Given the description of an element on the screen output the (x, y) to click on. 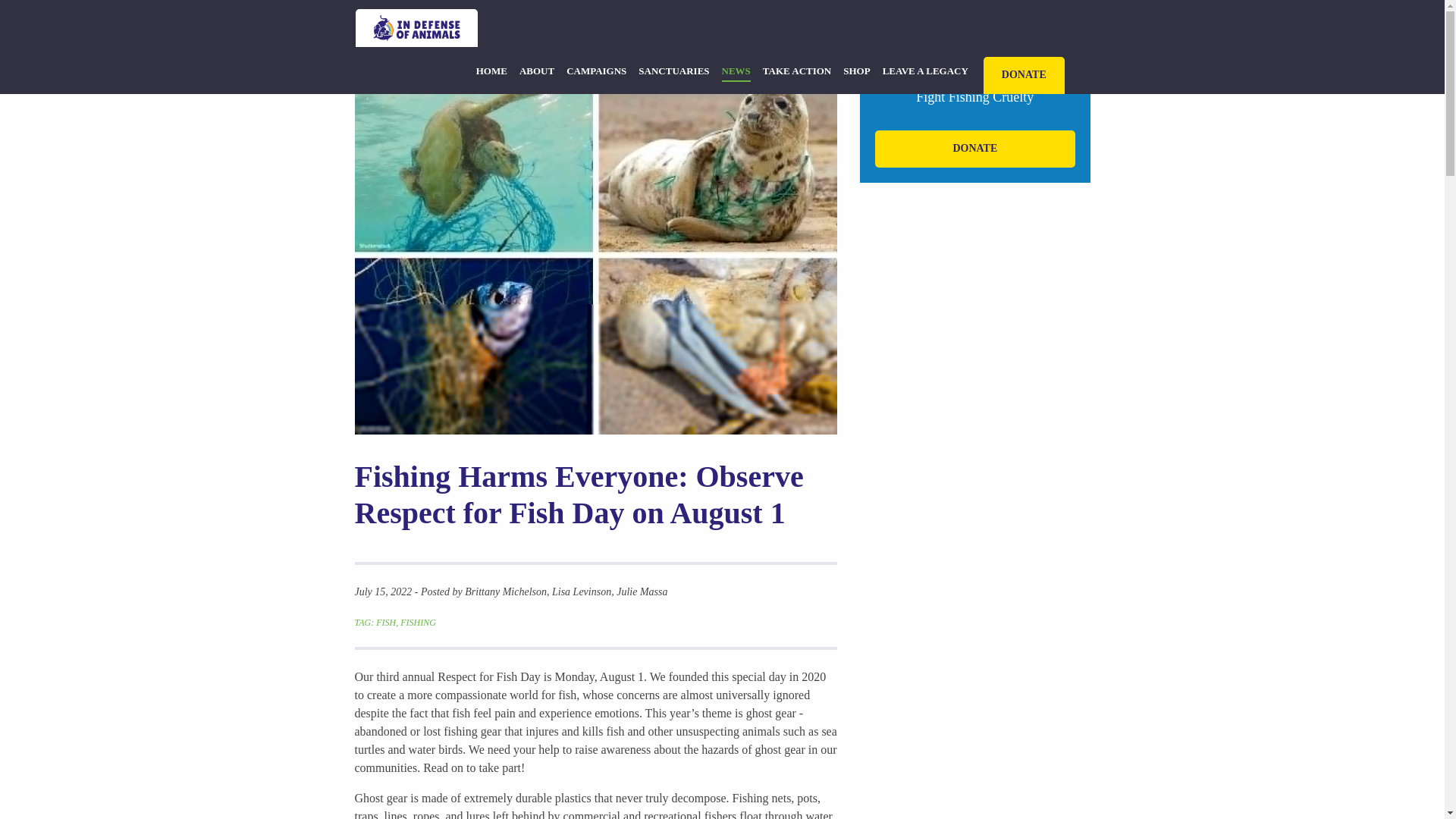
FISH (385, 622)
HOME (491, 67)
SHOP (856, 67)
NEWS (736, 67)
SANCTUARIES (674, 67)
DONATE (1024, 75)
TAKE ACTION (796, 67)
FISHING (417, 622)
DONATE (974, 148)
LEAVE A LEGACY (925, 67)
CAMPAIGNS (596, 67)
ABOUT (536, 67)
